Given the description of an element on the screen output the (x, y) to click on. 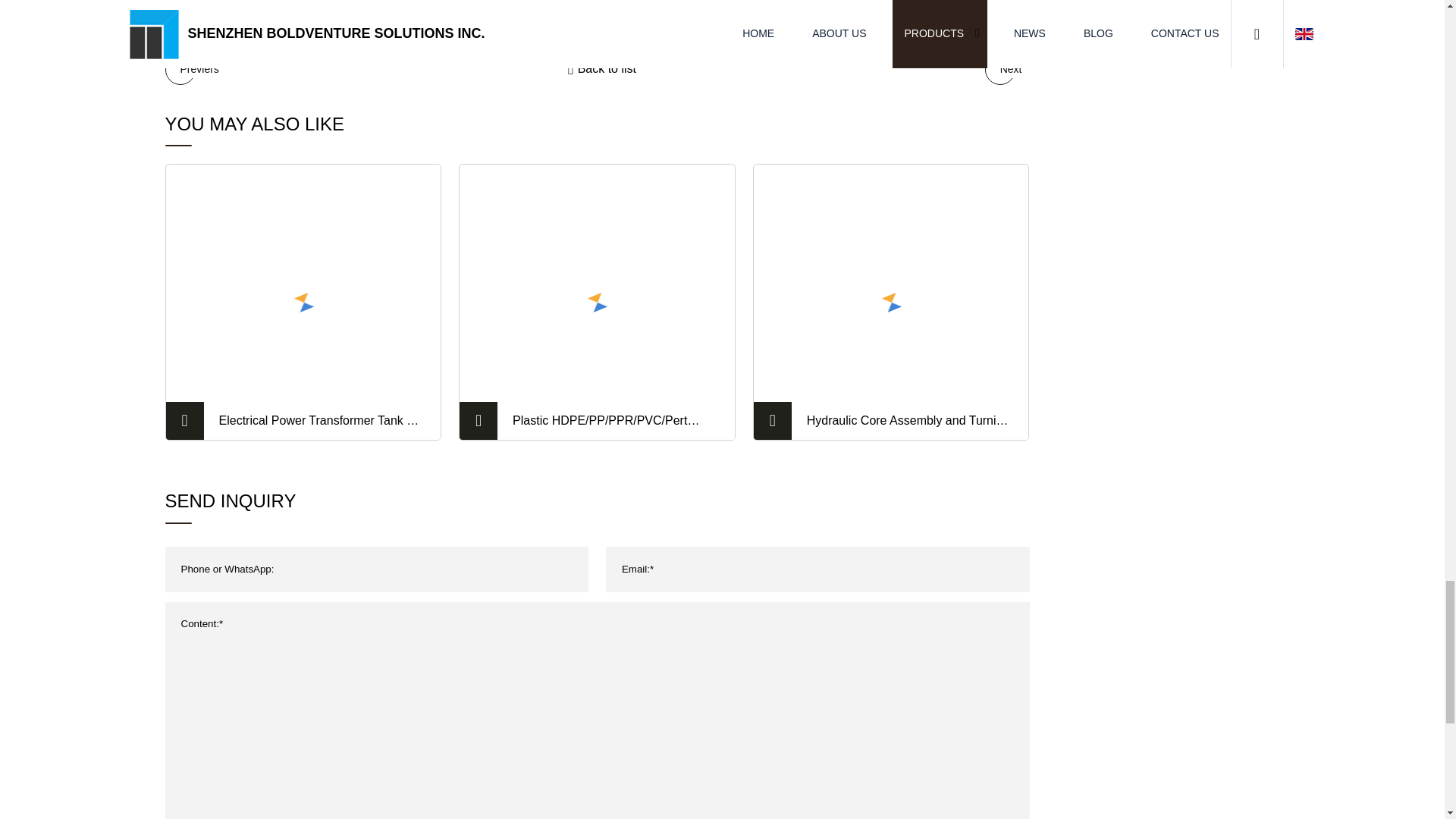
Metal Sheet Vacuum Lifting Equipment (1003, 69)
Back to list (601, 68)
Next (1003, 69)
Previers (192, 69)
